Given the description of an element on the screen output the (x, y) to click on. 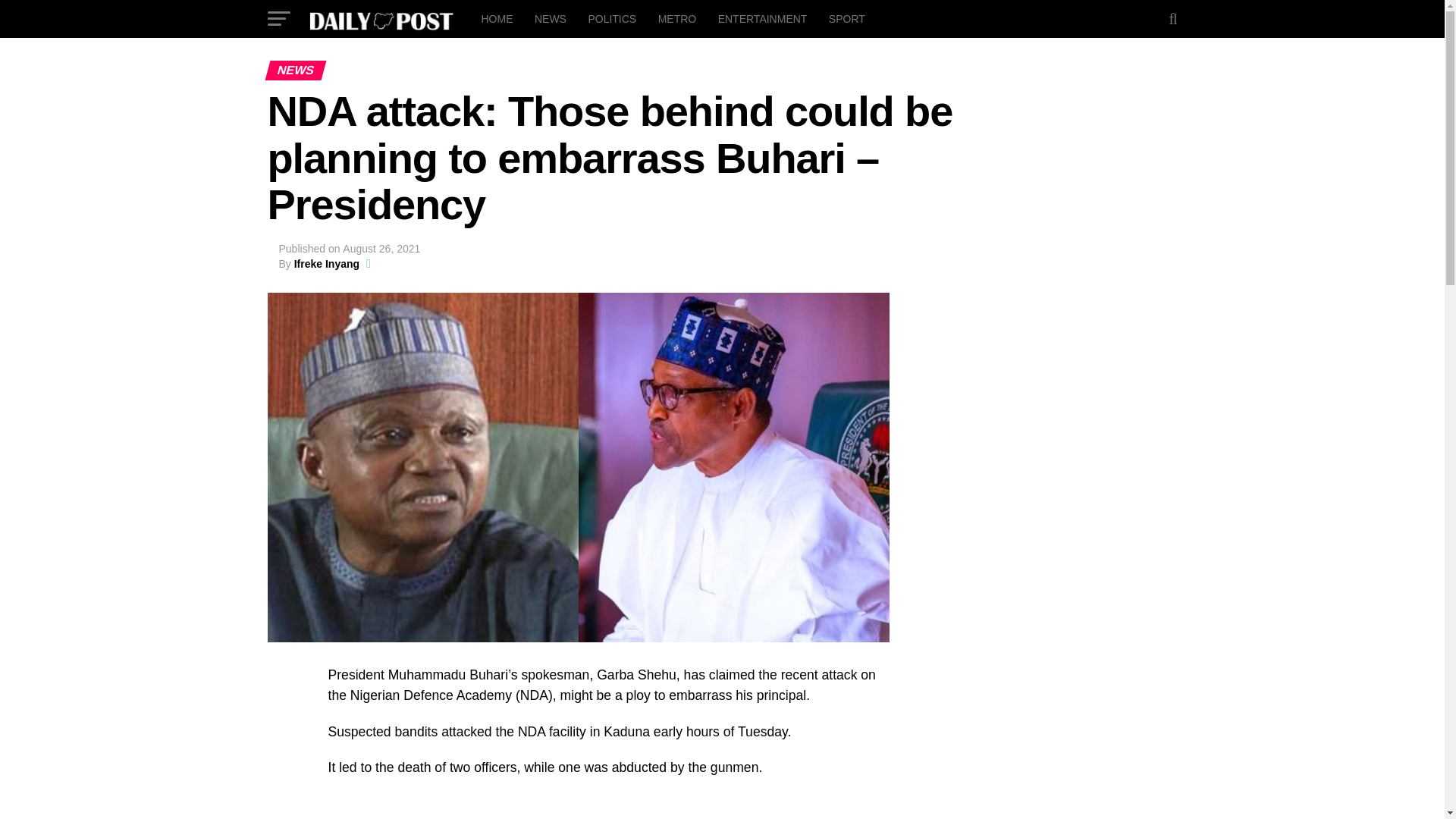
Posts by Ifreke Inyang (326, 263)
HOME (496, 18)
METRO (677, 18)
SPORT (847, 18)
POLITICS (611, 18)
Ifreke Inyang (326, 263)
ENTERTAINMENT (762, 18)
NEWS (550, 18)
